Given the description of an element on the screen output the (x, y) to click on. 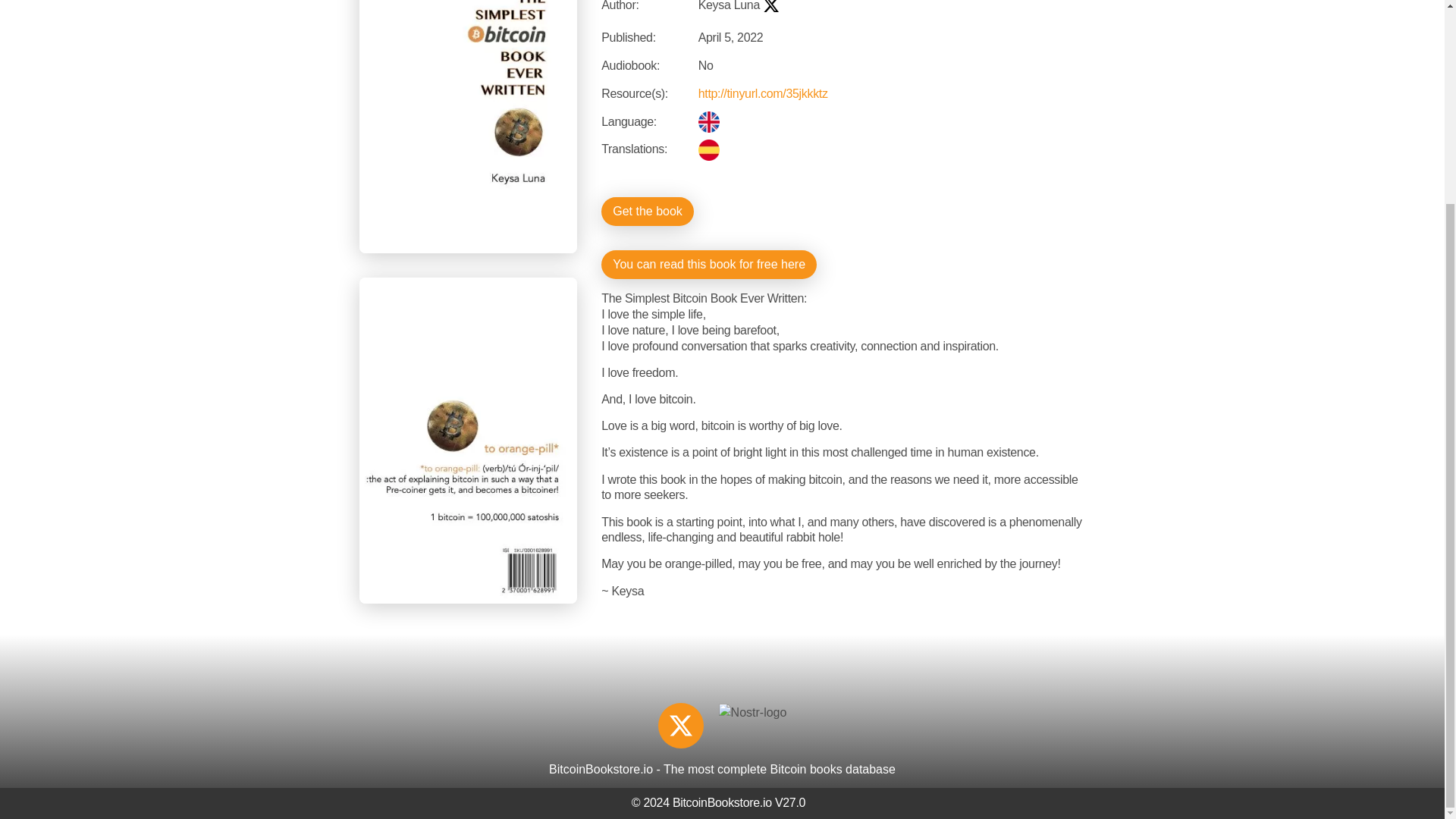
English (708, 121)
Get the book (647, 211)
Spanish (708, 149)
You can read this book for free here (708, 264)
Nostr-logo (753, 712)
